Given the description of an element on the screen output the (x, y) to click on. 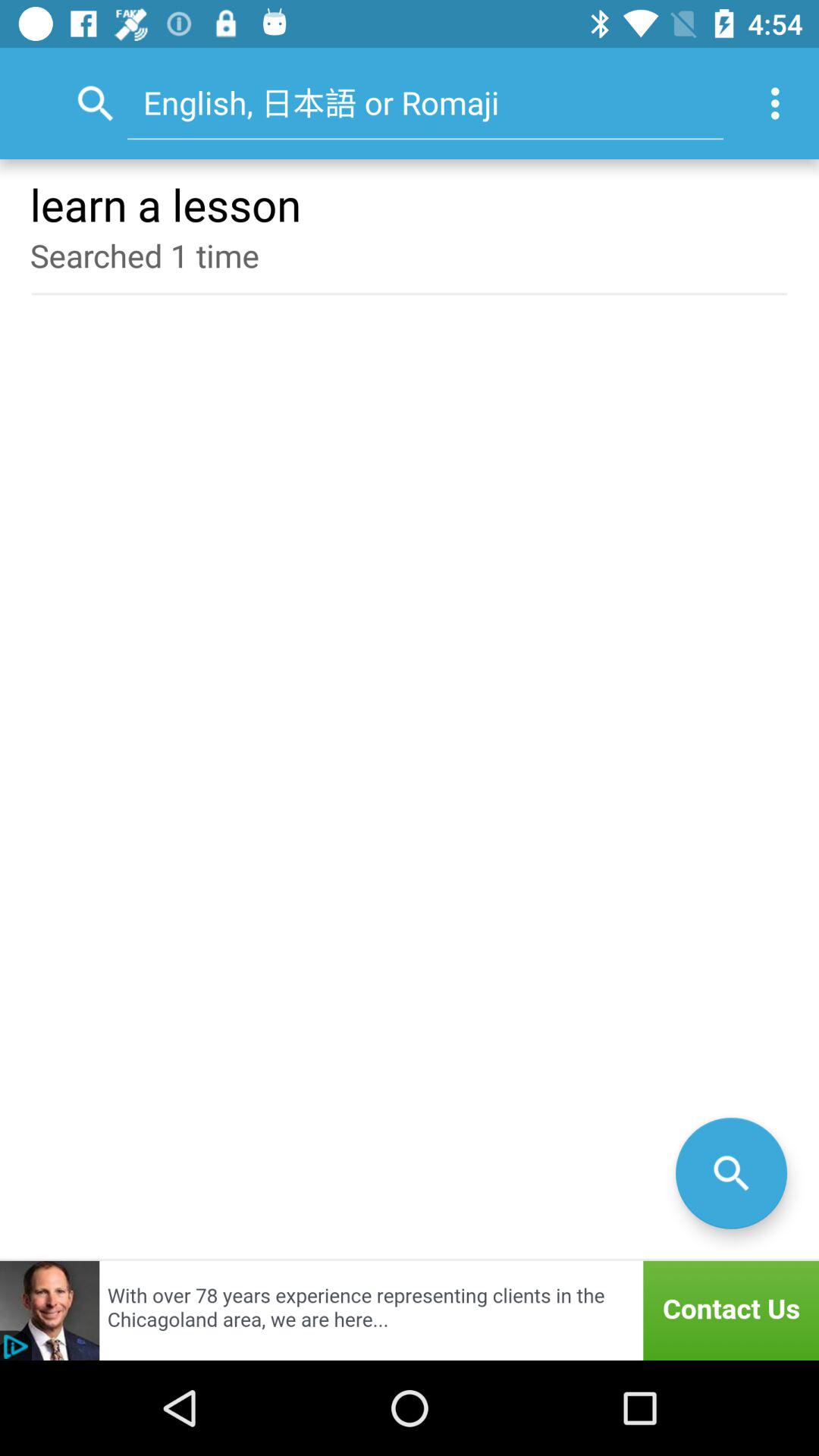
open advertisement (409, 1310)
